Given the description of an element on the screen output the (x, y) to click on. 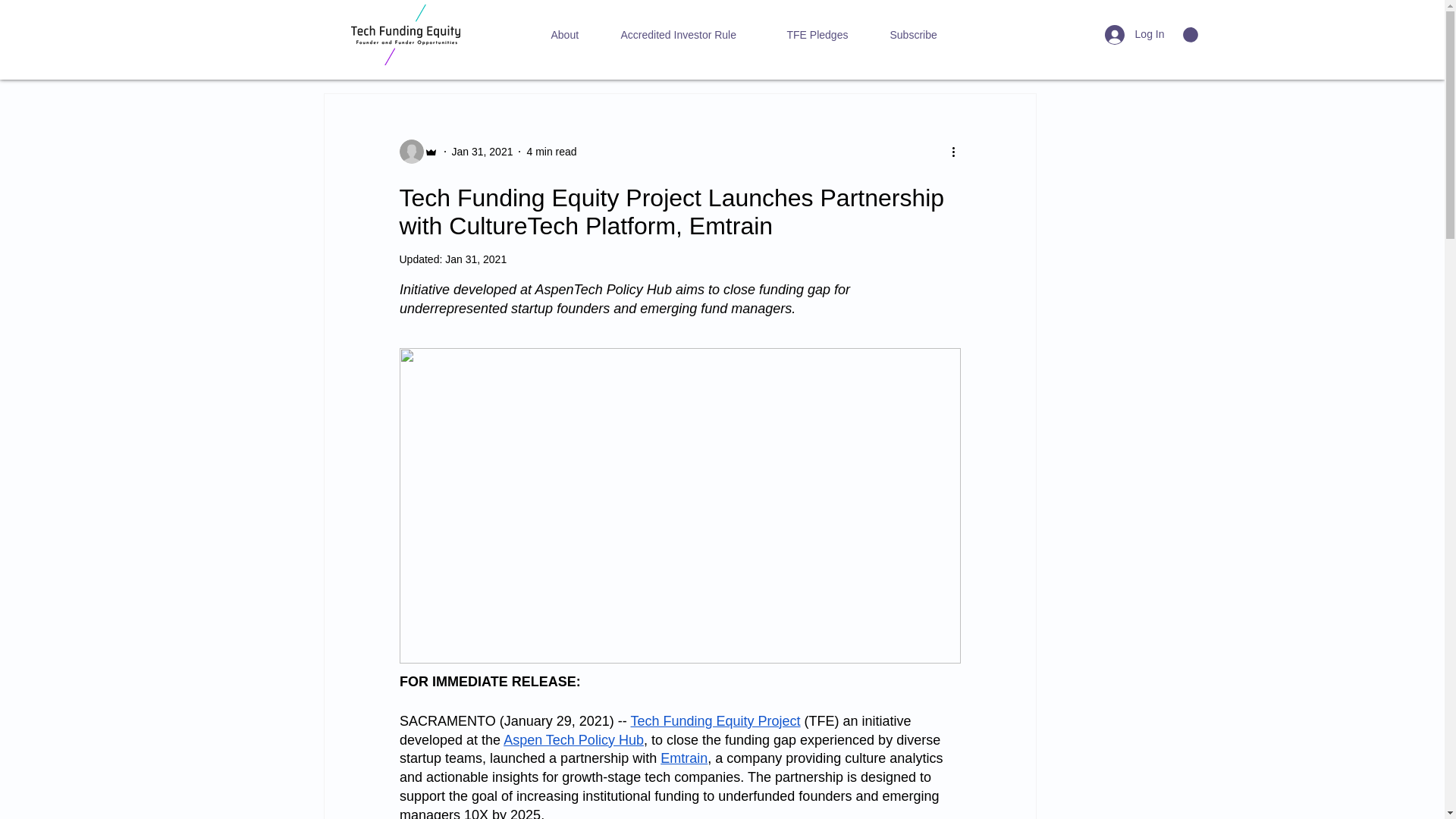
Startup Redlining (652, 47)
TFE Opportunity Pledge (776, 47)
Jan 31, 2021 (482, 151)
Startup DEI Pledge (903, 47)
Jan 31, 2021 (475, 259)
Aspen Tech Policy Hub (573, 739)
Government Policy (436, 47)
Subscribe (934, 34)
About (585, 34)
Emtrain (684, 758)
All Posts (342, 47)
Tech Funding Equity Project (714, 720)
4 min read (550, 151)
Log In (1134, 33)
